Given the description of an element on the screen output the (x, y) to click on. 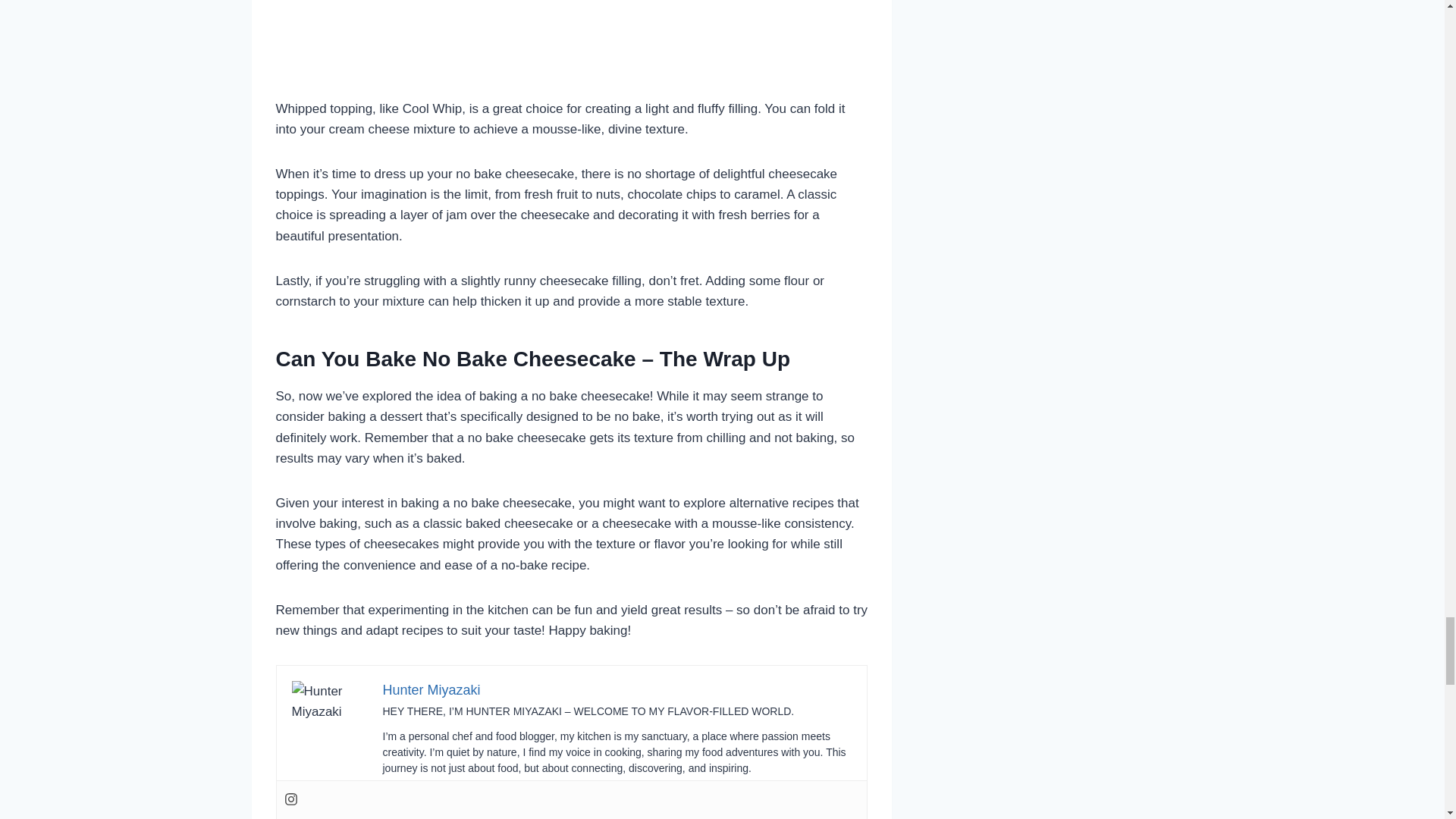
Hunter Miyazaki (430, 689)
